Given the description of an element on the screen output the (x, y) to click on. 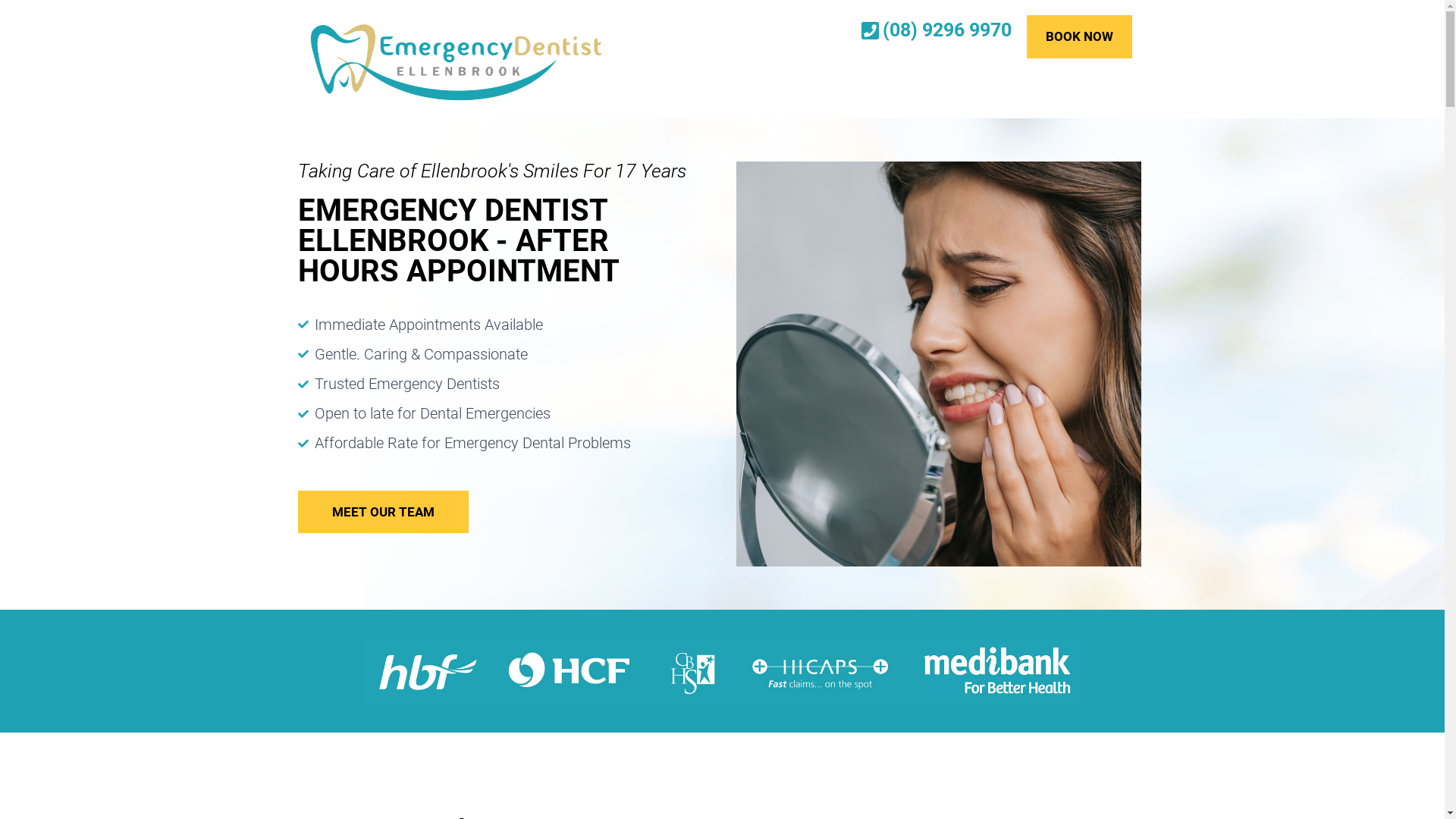
(08) 9296 9970 Element type: text (917, 30)
BOOK NOW Element type: text (1079, 36)
MEET OUR TEAM Element type: text (382, 511)
